Given the description of an element on the screen output the (x, y) to click on. 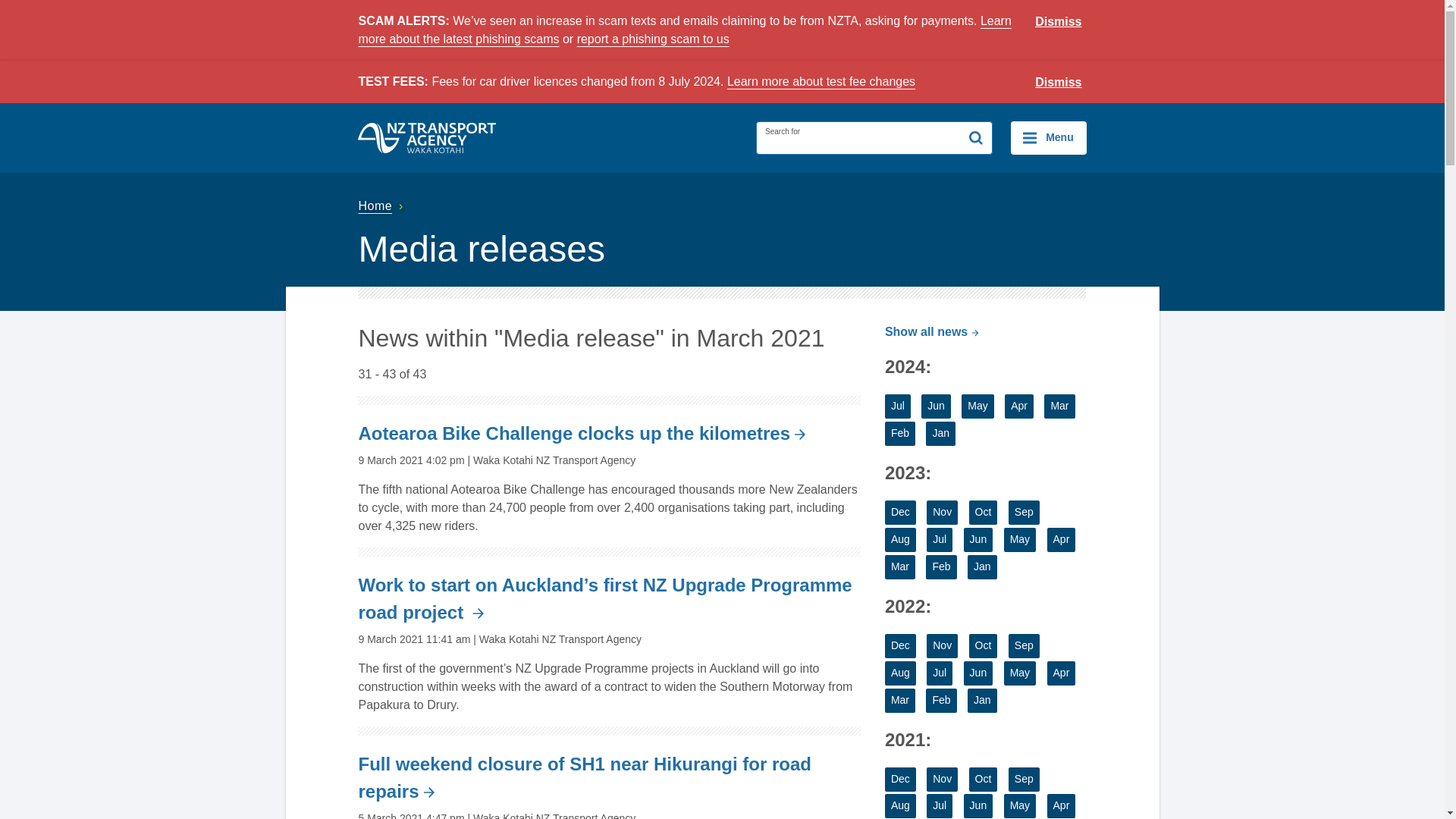
Learn more about test fee changes (820, 81)
Menu (1048, 137)
Home (382, 205)
report a phishing scam to us (652, 38)
NZ Transport Agency Waka Kotahi (427, 137)
Dismiss (1058, 21)
Learn more about the latest phishing scams (684, 29)
Dismiss (1058, 82)
